Given the description of an element on the screen output the (x, y) to click on. 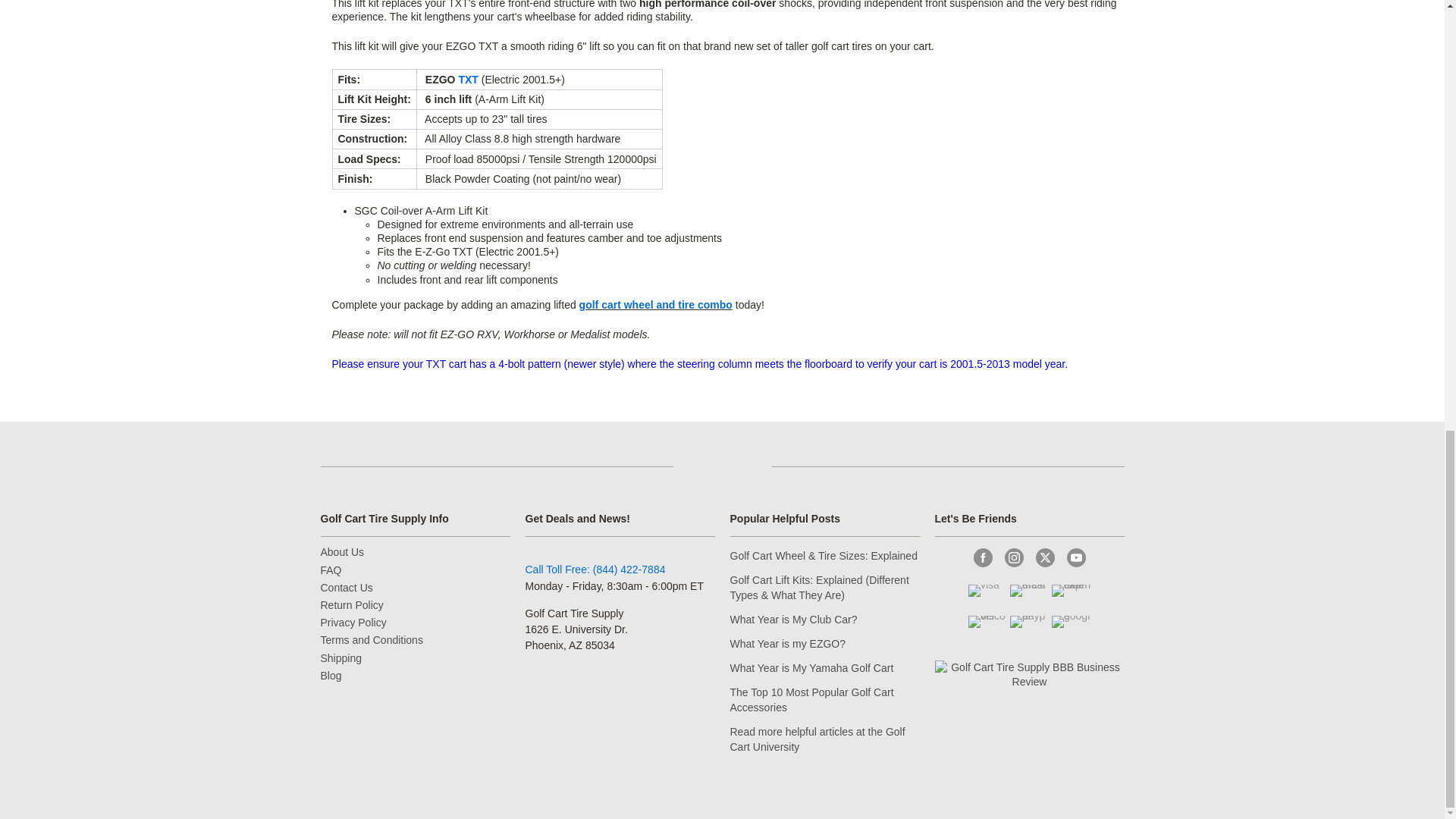
Facebook (983, 557)
Youtube (1074, 557)
Instagram (1013, 557)
Twitter (1044, 557)
Lifted Golf Cart Wheels and Tires (655, 304)
